Given the description of an element on the screen output the (x, y) to click on. 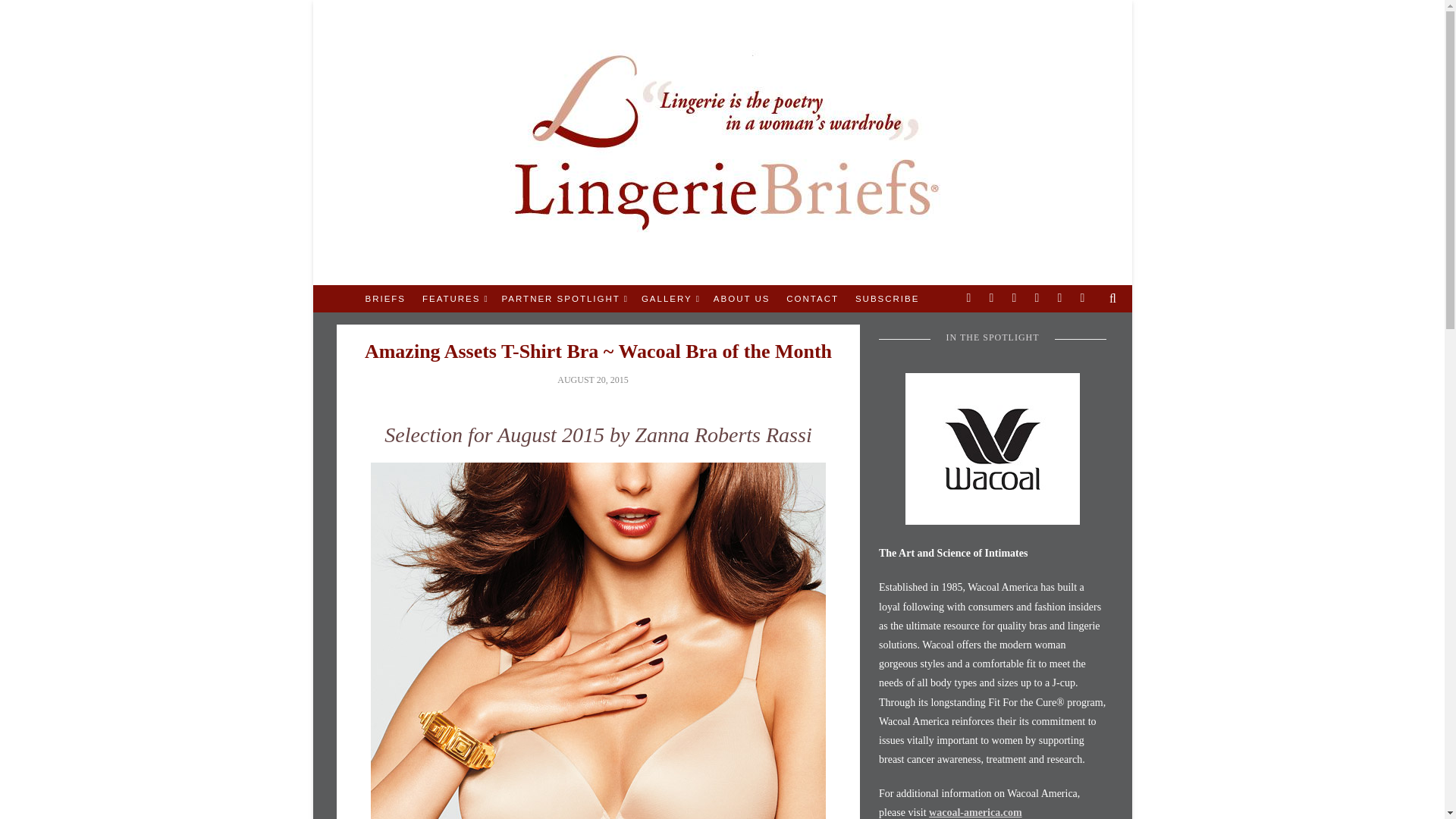
wacoal (992, 448)
